Given the description of an element on the screen output the (x, y) to click on. 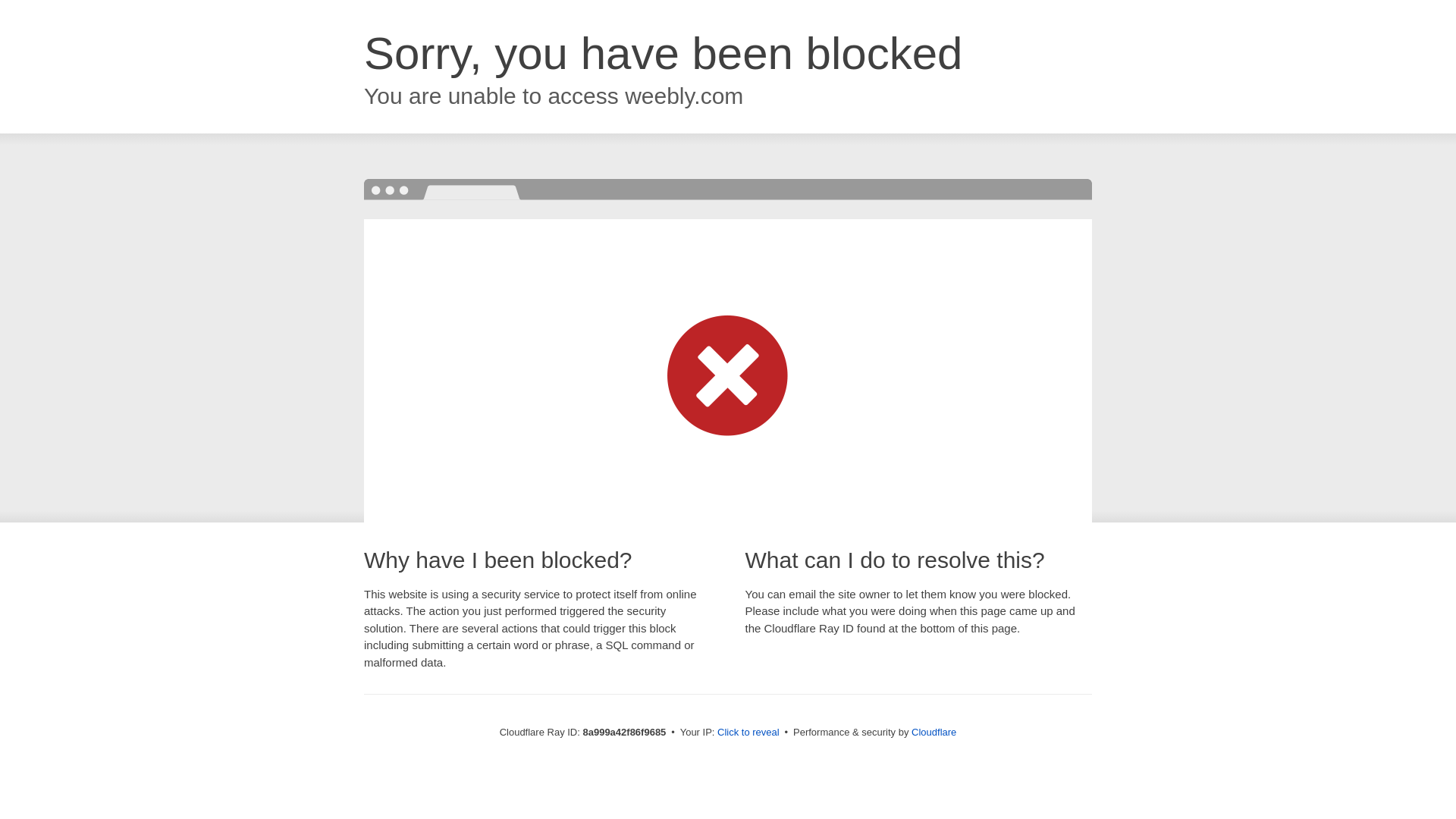
Cloudflare (933, 731)
Click to reveal (747, 732)
